Given the description of an element on the screen output the (x, y) to click on. 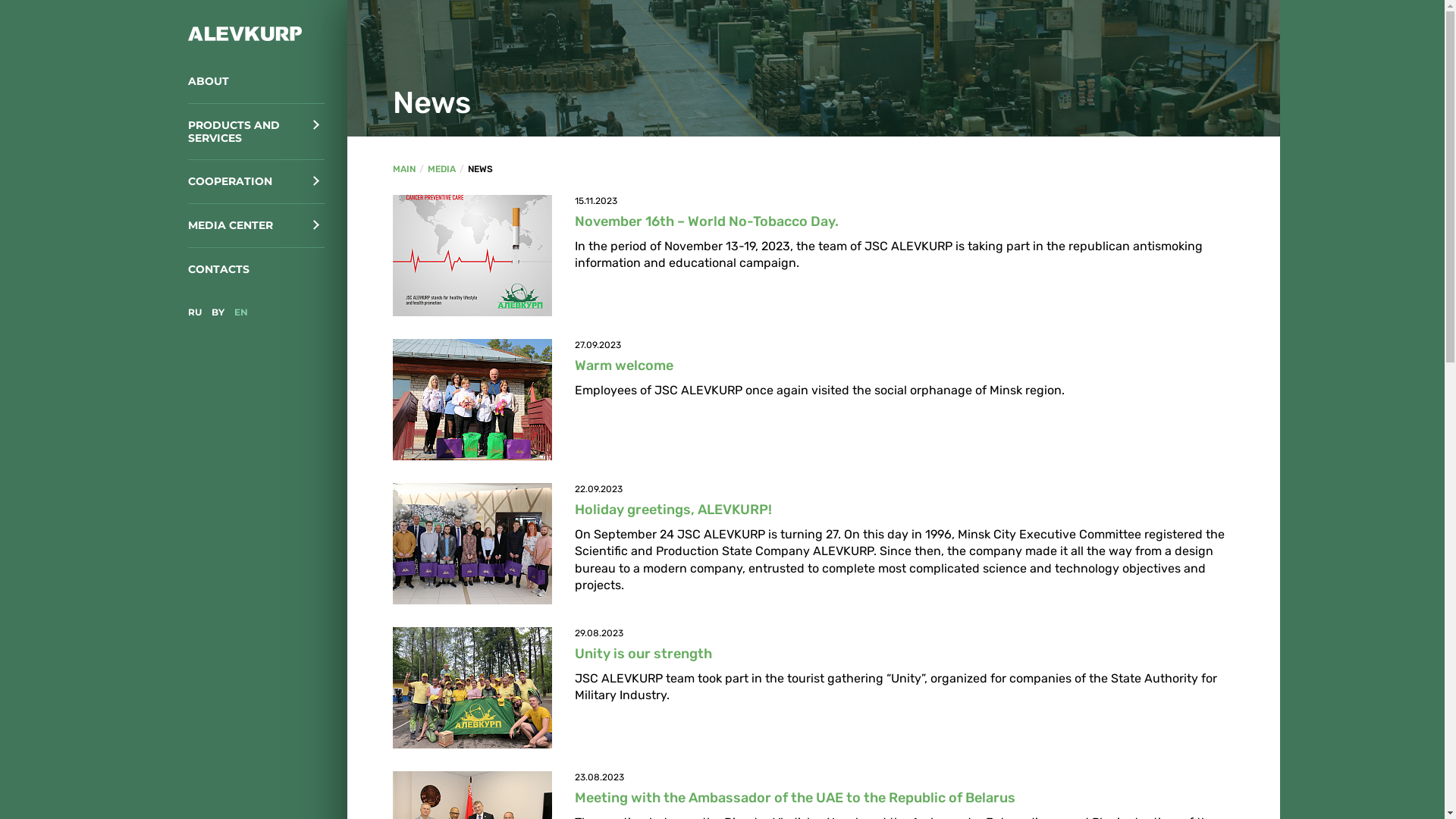
BY Element type: text (216, 311)
Holiday greetings, ALEVKURP! Element type: text (672, 509)
RU Element type: text (194, 311)
MAIN Element type: text (403, 168)
ABOUT Element type: text (256, 81)
CONTACTS Element type: text (256, 269)
Unity is our strength Element type: text (643, 653)
PRODUCTS AND SERVICES Element type: text (256, 131)
COOPERATION Element type: text (256, 181)
MEDIA Element type: text (441, 168)
Warm welcome Element type: text (623, 365)
MEDIA CENTER Element type: text (256, 225)
